Given the description of an element on the screen output the (x, y) to click on. 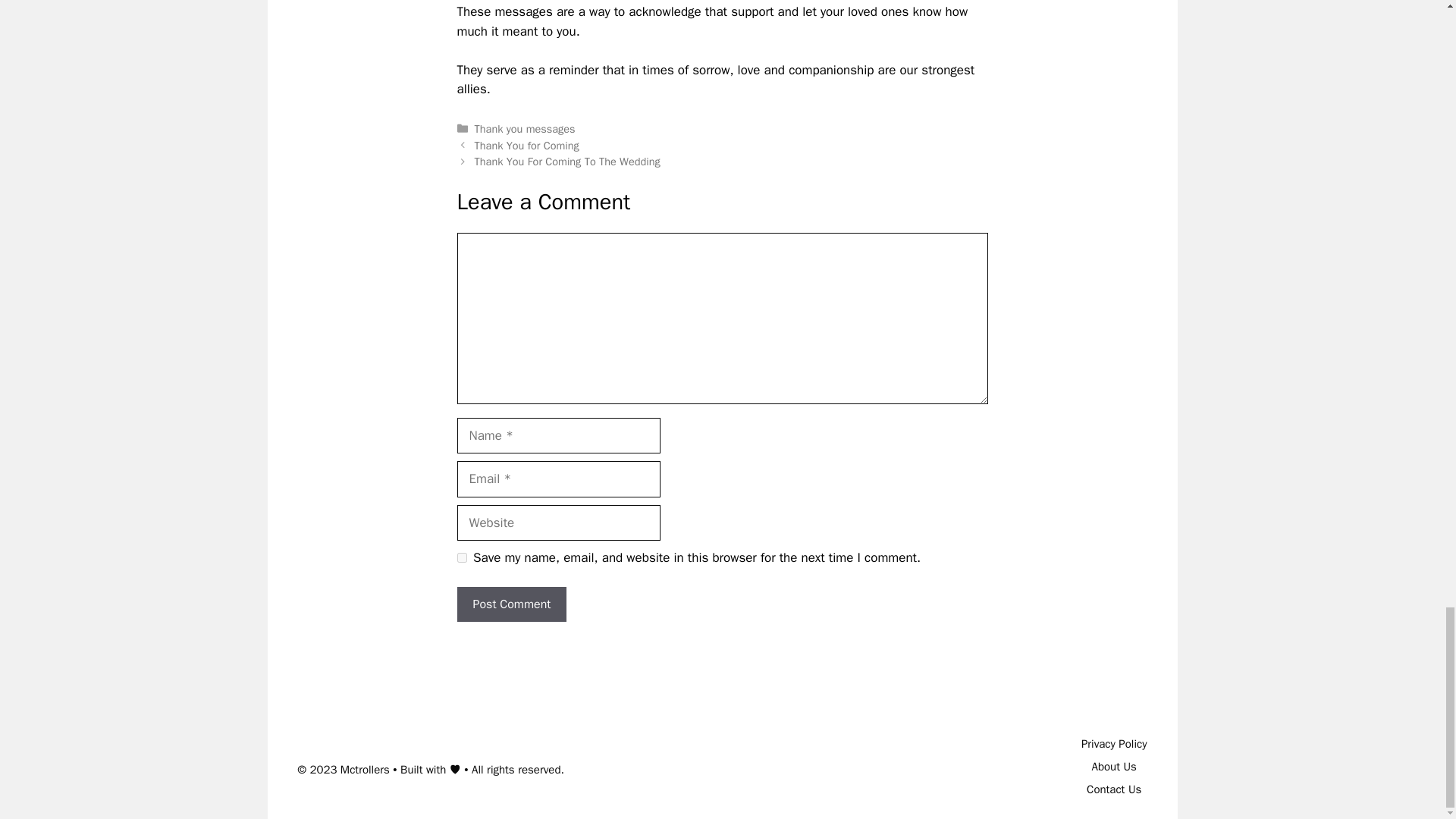
Thank You For Coming To The Wedding (567, 161)
Thank You for Coming (526, 145)
Post Comment (511, 604)
yes (461, 557)
Thank you messages (524, 128)
Post Comment (511, 604)
Privacy Policy (1114, 744)
Contact Us (1113, 789)
About Us (1114, 766)
